Given the description of an element on the screen output the (x, y) to click on. 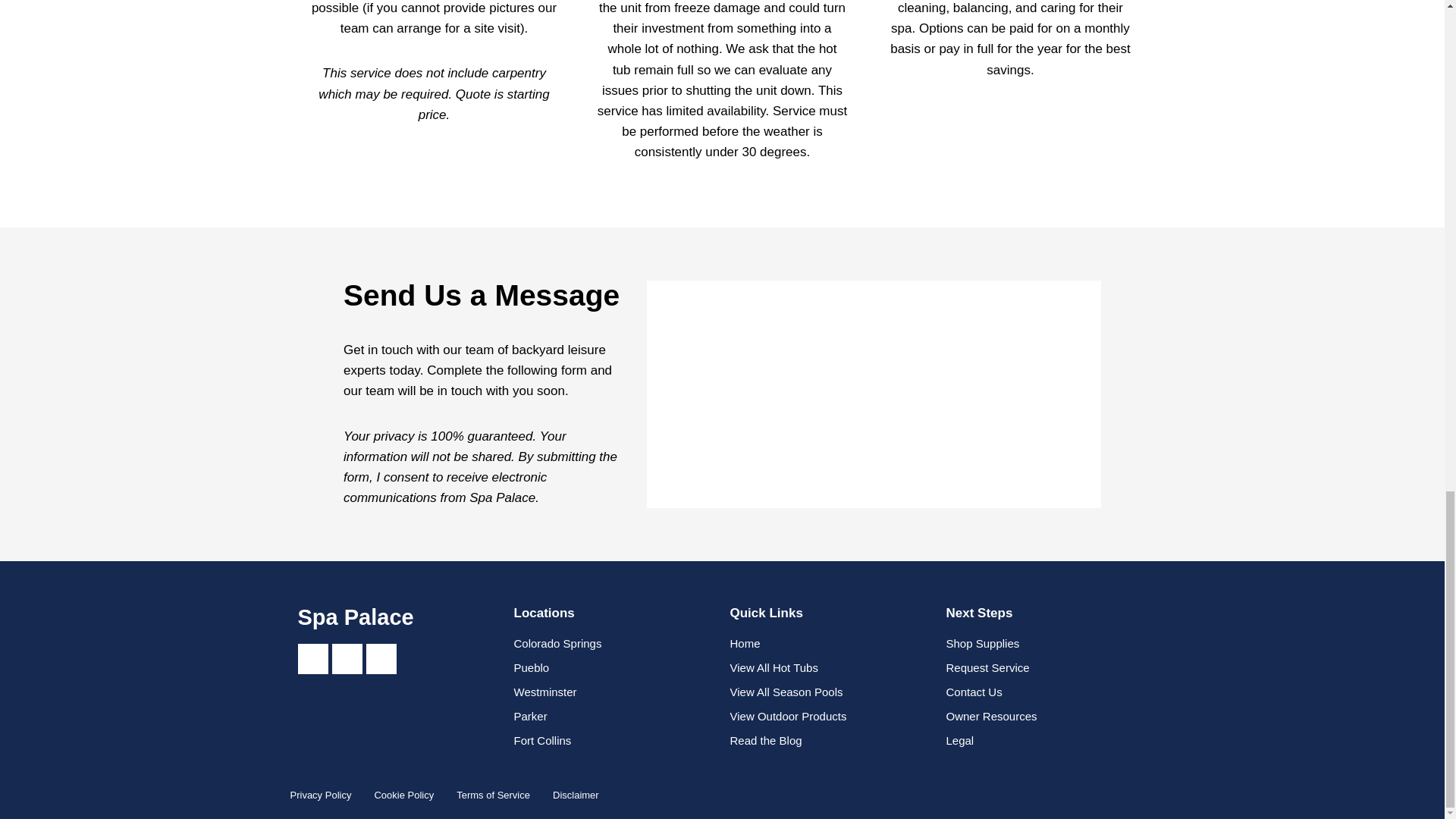
Service Request (873, 390)
